Given the description of an element on the screen output the (x, y) to click on. 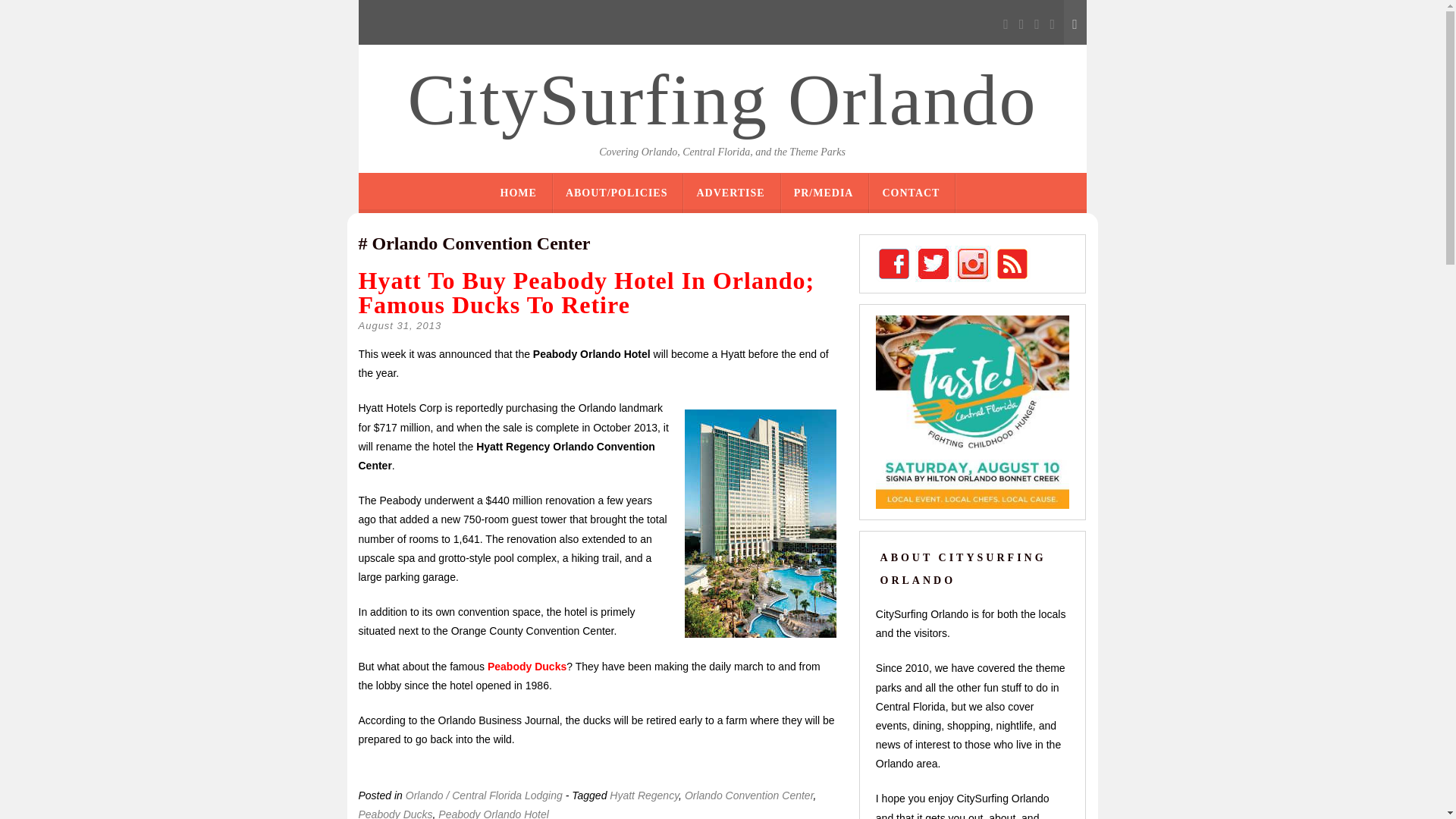
Peabody Orlando Hotel (493, 813)
ADVERTISE (729, 192)
CitySurfing Orlando (721, 99)
August 31, 2013 (399, 325)
Hyatt Regency (644, 795)
Peabody Ducks (395, 813)
Peabody Ducks (526, 666)
CONTACT (910, 192)
HOME (518, 192)
